Given the description of an element on the screen output the (x, y) to click on. 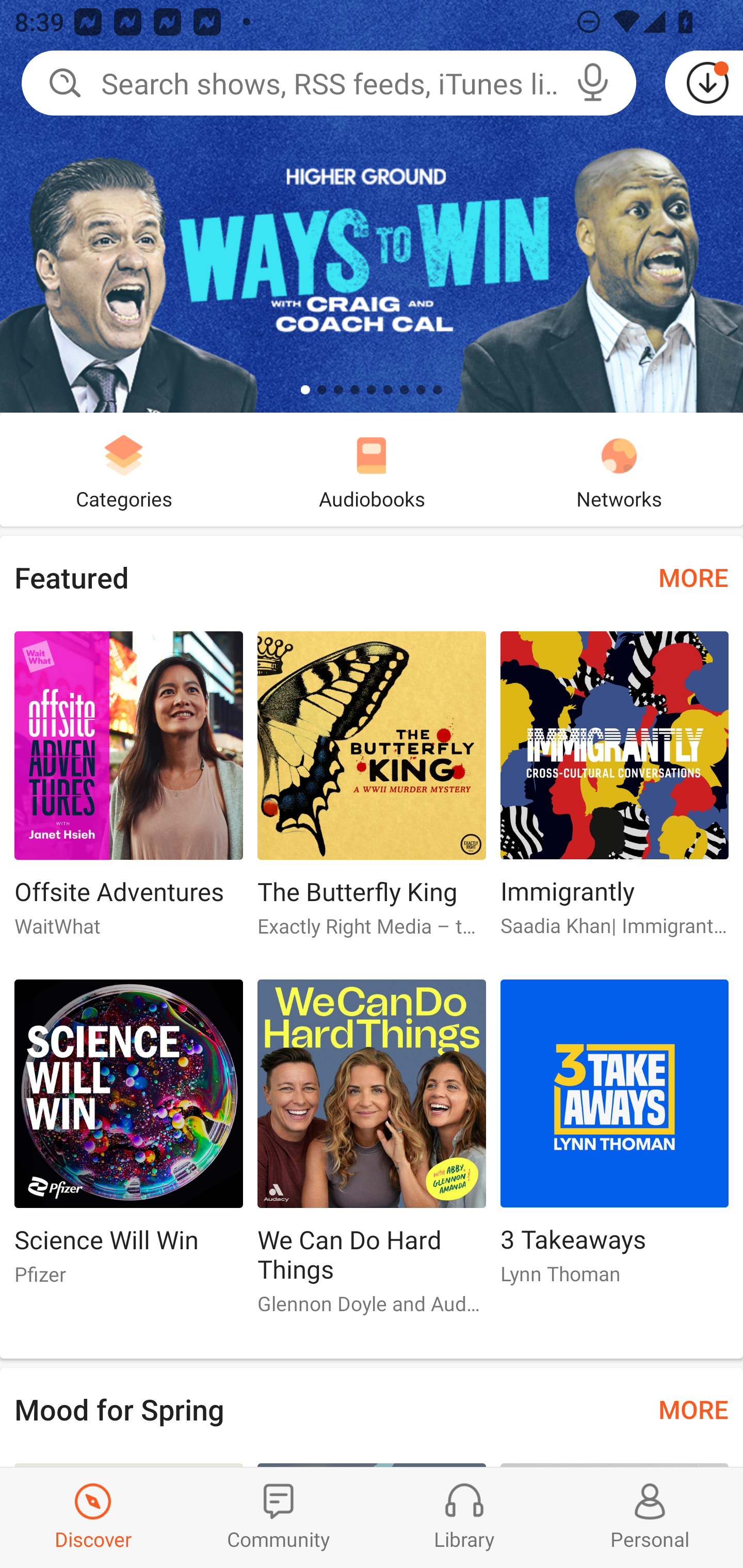
Ways To Win (371, 206)
Categories (123, 469)
Audiobooks (371, 469)
Networks (619, 469)
MORE (693, 576)
Offsite Adventures Offsite Adventures WaitWhat (128, 792)
Science Will Win Science Will Win Pfizer (128, 1140)
3 Takeaways 3 Takeaways Lynn Thoman (614, 1140)
MORE (693, 1409)
Discover (92, 1517)
Community (278, 1517)
Library (464, 1517)
Profiles and Settings Personal (650, 1517)
